Given the description of an element on the screen output the (x, y) to click on. 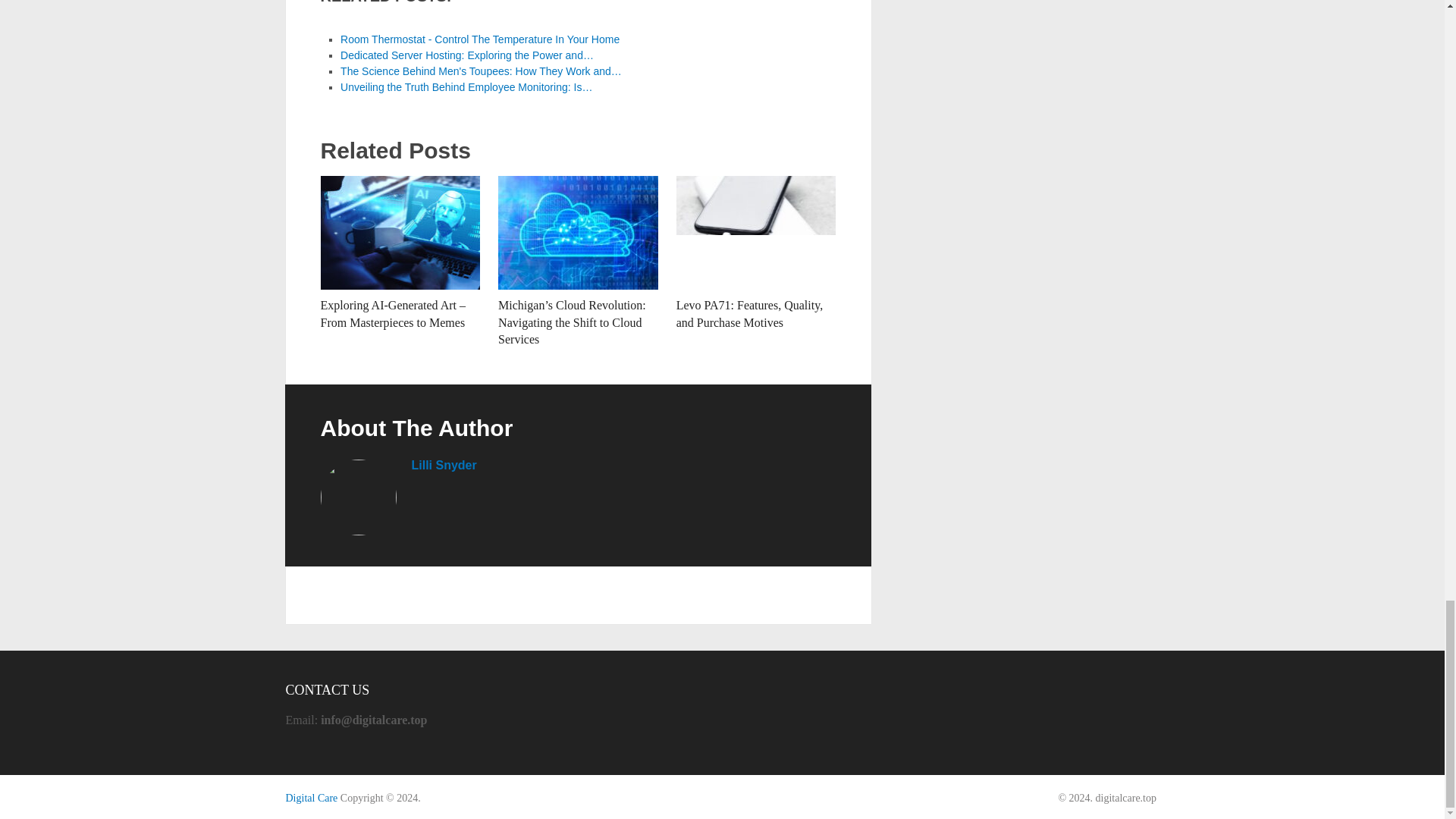
Levo PA71: Features, Quality, and Purchase Motives (749, 313)
 Tech Help, News and Reviews 2024 (311, 797)
Levo PA71: Features, Quality, and Purchase Motives (749, 313)
Digital Care (311, 797)
Room Thermostat - Control The Temperature In Your Home (480, 39)
Lilli Snyder (443, 464)
Levo PA71: Features, Quality, and Purchase Motives (756, 232)
